Given the description of an element on the screen output the (x, y) to click on. 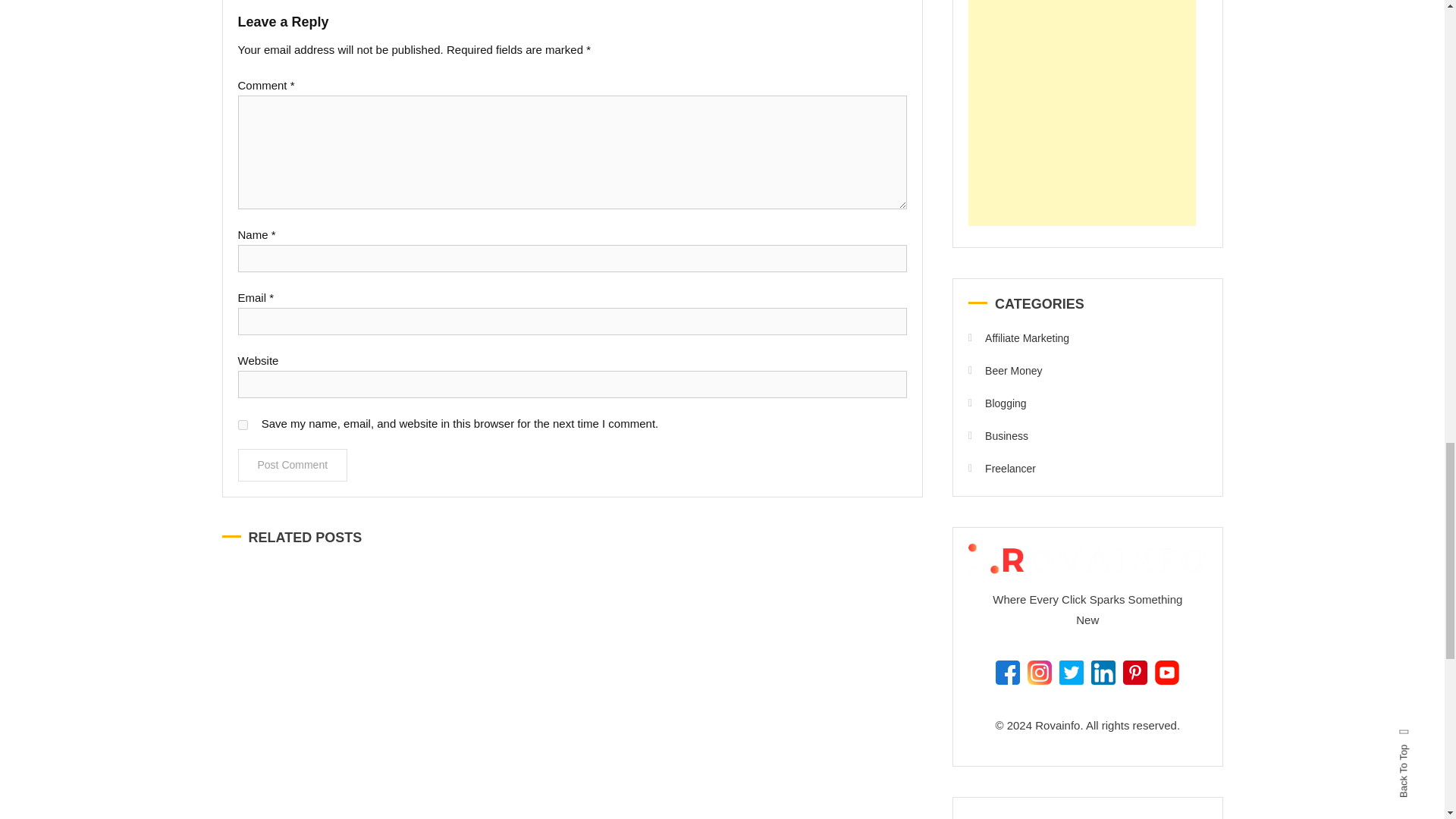
Post Comment (292, 464)
Post Comment (292, 464)
Advertisement (1081, 113)
yes (242, 424)
